Given the description of an element on the screen output the (x, y) to click on. 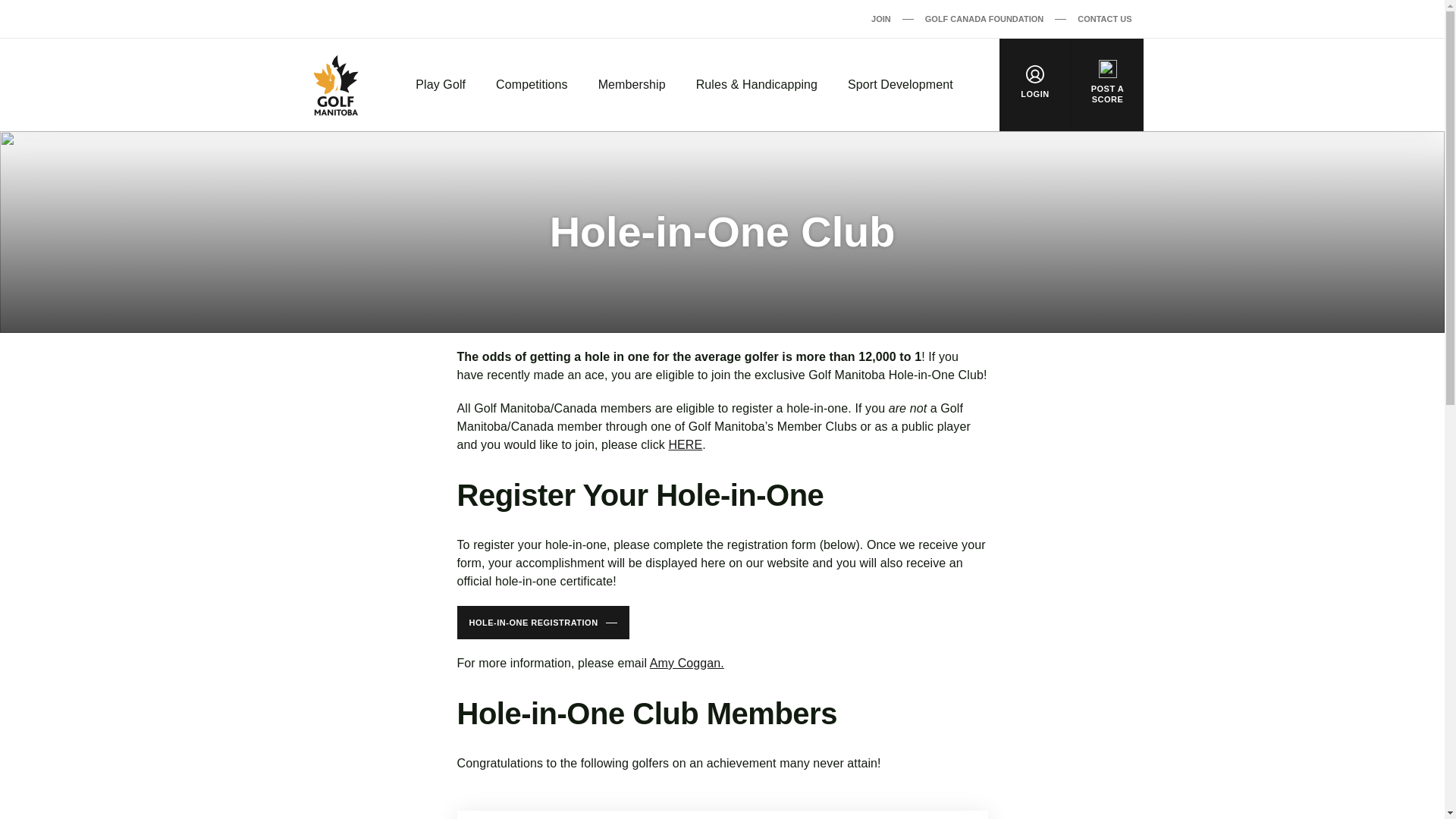
Competitions (531, 85)
JOIN (880, 18)
CONTACT US (1104, 18)
Play Golf (440, 85)
Sport Development (900, 85)
Membership (632, 85)
GOLF CANADA FOUNDATION (983, 18)
